Given the description of an element on the screen output the (x, y) to click on. 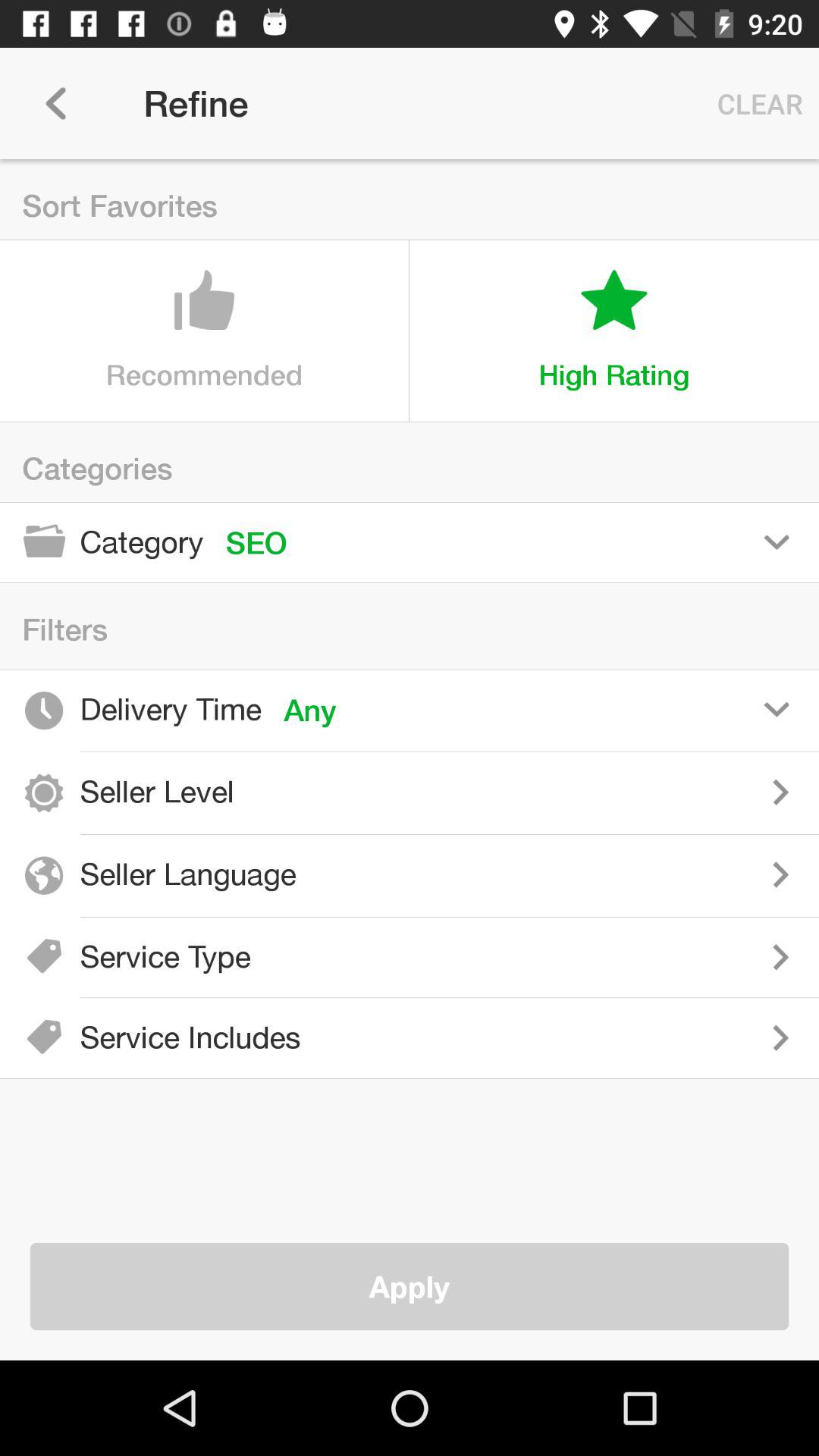
view included in service (571, 1037)
